Given the description of an element on the screen output the (x, y) to click on. 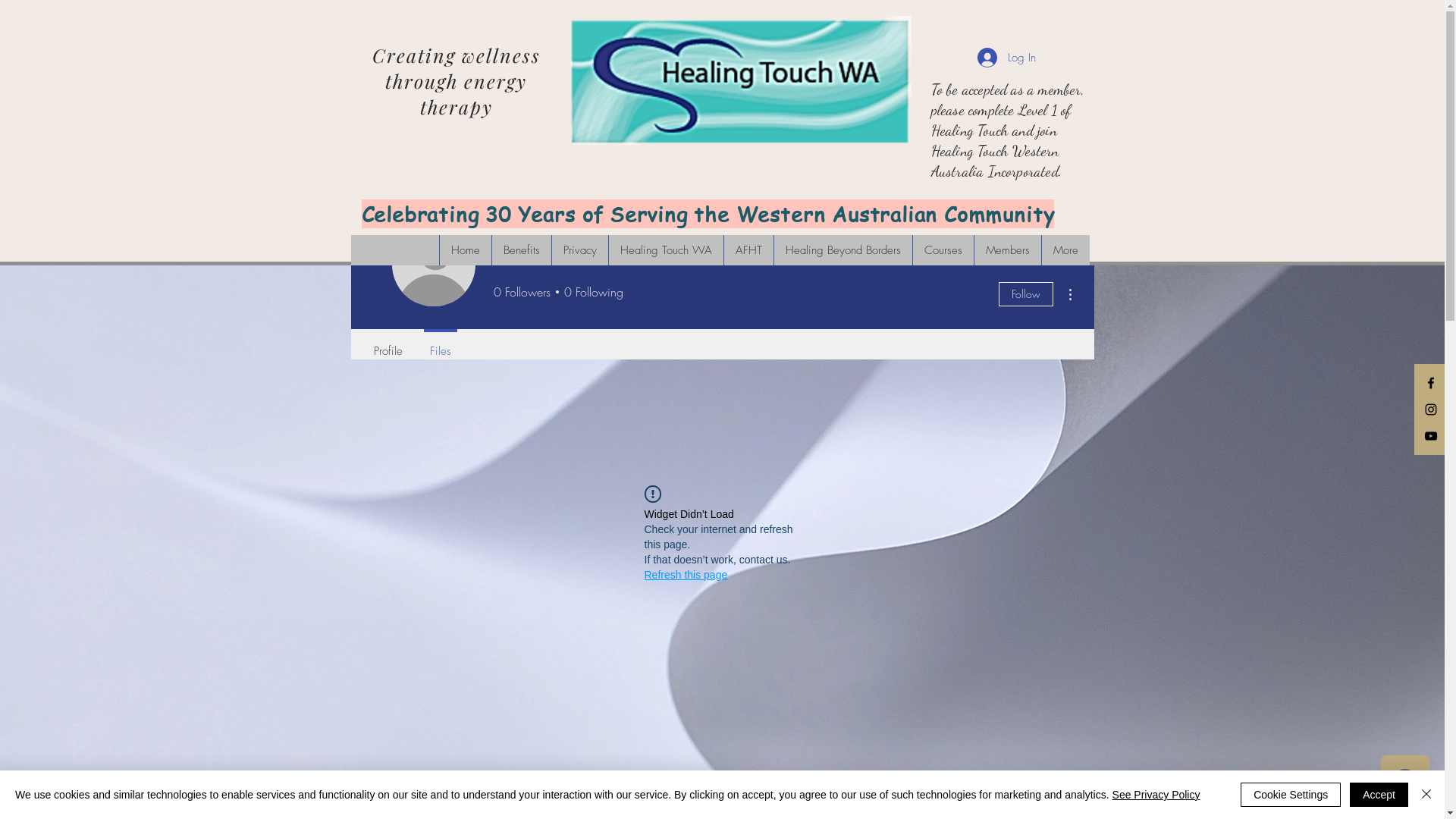
Home Element type: text (464, 250)
0
Followers Element type: text (520, 291)
AFHT Element type: text (748, 250)
Refresh this page Element type: text (686, 574)
healingtouchlogo.png Element type: hover (740, 79)
Benefits Element type: text (521, 250)
0
Following Element type: text (590, 291)
Profile Element type: text (387, 344)
Log In Element type: text (1005, 57)
Members Element type: text (1007, 250)
Privacy Element type: text (578, 250)
Cookie Settings Element type: text (1290, 794)
Files Element type: text (439, 344)
See Privacy Policy Element type: text (1156, 794)
Courses Element type: text (941, 250)
Follow Element type: text (1024, 294)
Healing Beyond Borders Element type: text (842, 250)
Healing Touch WA Element type: text (665, 250)
Accept Element type: text (1378, 794)
